Given the description of an element on the screen output the (x, y) to click on. 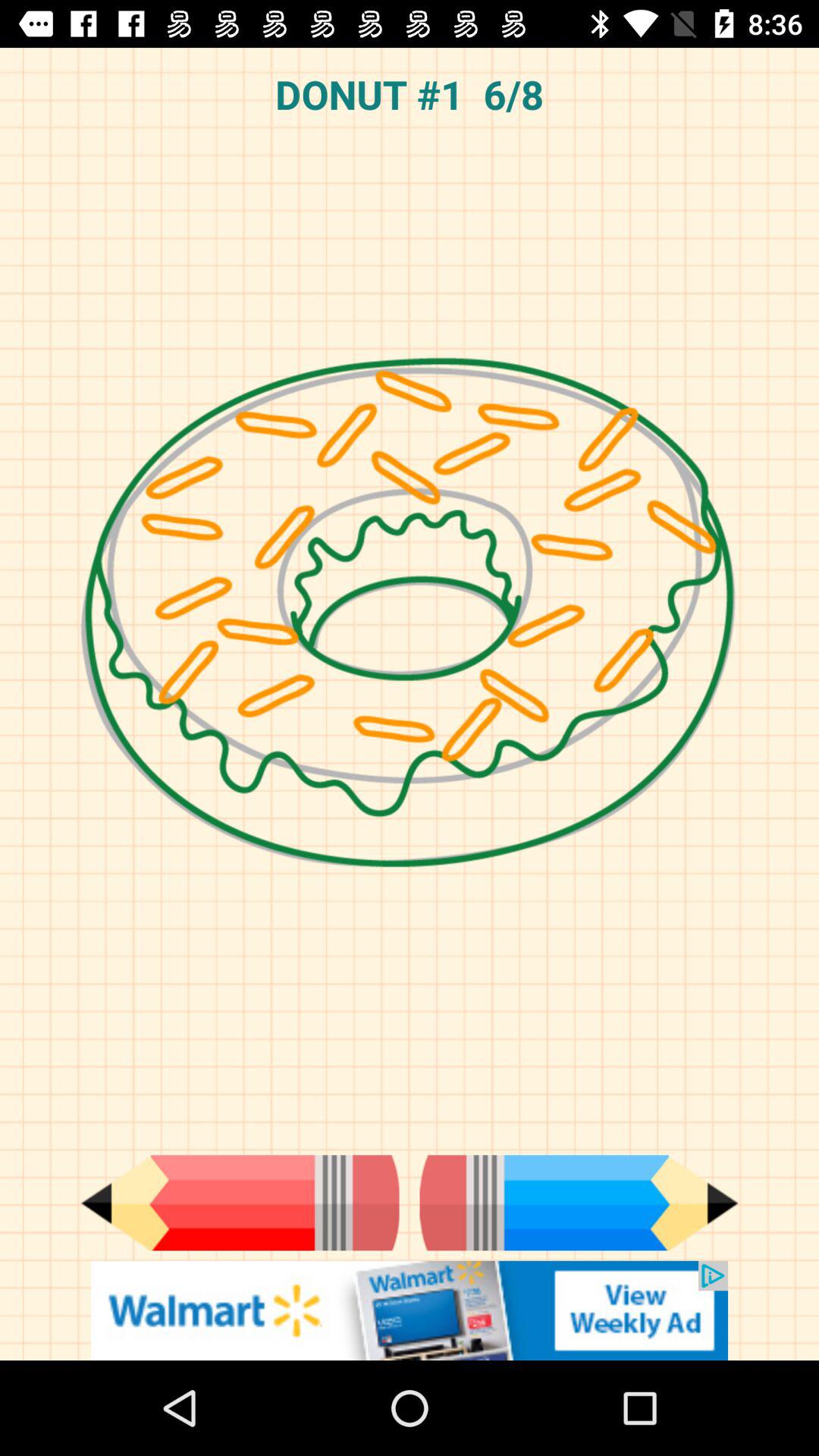
open advertisement (409, 1310)
